Given the description of an element on the screen output the (x, y) to click on. 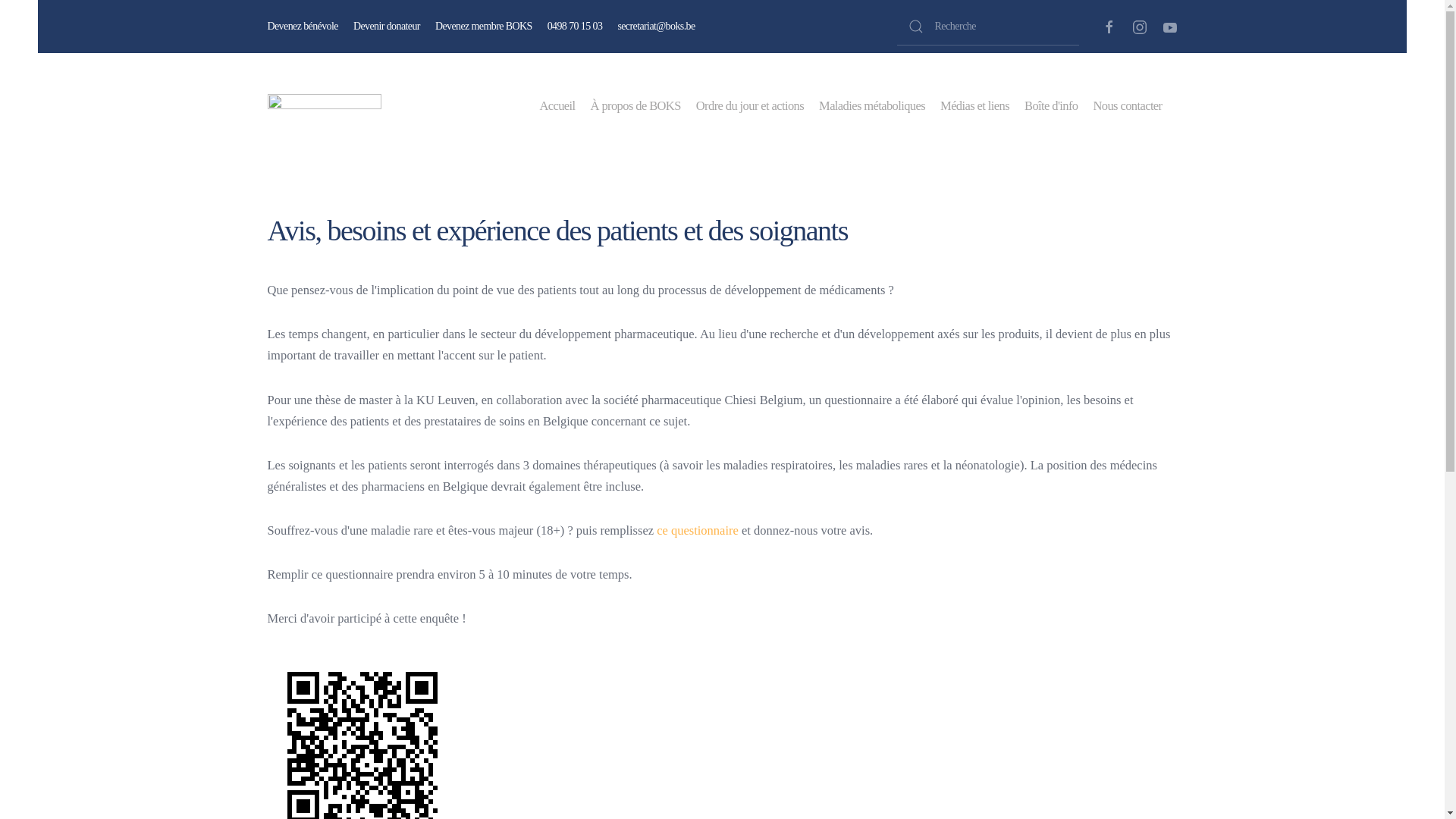
secretariat@boks.be Element type: text (655, 26)
Devenez membre BOKS Element type: text (483, 26)
Ordre du jour et actions Element type: text (749, 106)
Devenir donateur Element type: text (386, 26)
Nous contacter Element type: text (1126, 106)
0498 70 15 03 Element type: text (574, 26)
Accueil Element type: text (556, 106)
ce questionnaire Element type: text (697, 530)
